Given the description of an element on the screen output the (x, y) to click on. 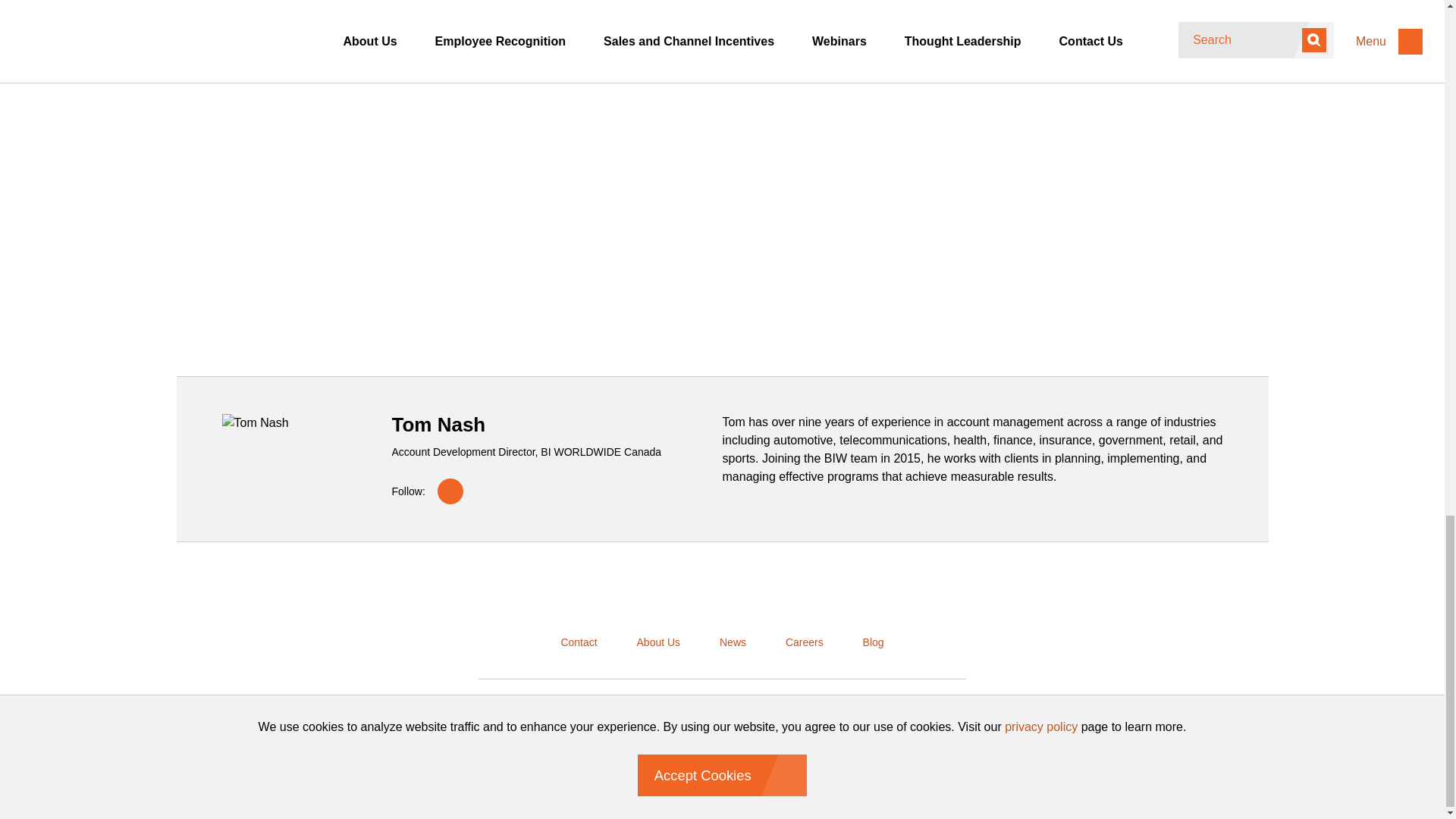
BI WORLDWIDE (722, 588)
Contact (577, 642)
About Us (658, 642)
LinkedIn (450, 491)
